Given the description of an element on the screen output the (x, y) to click on. 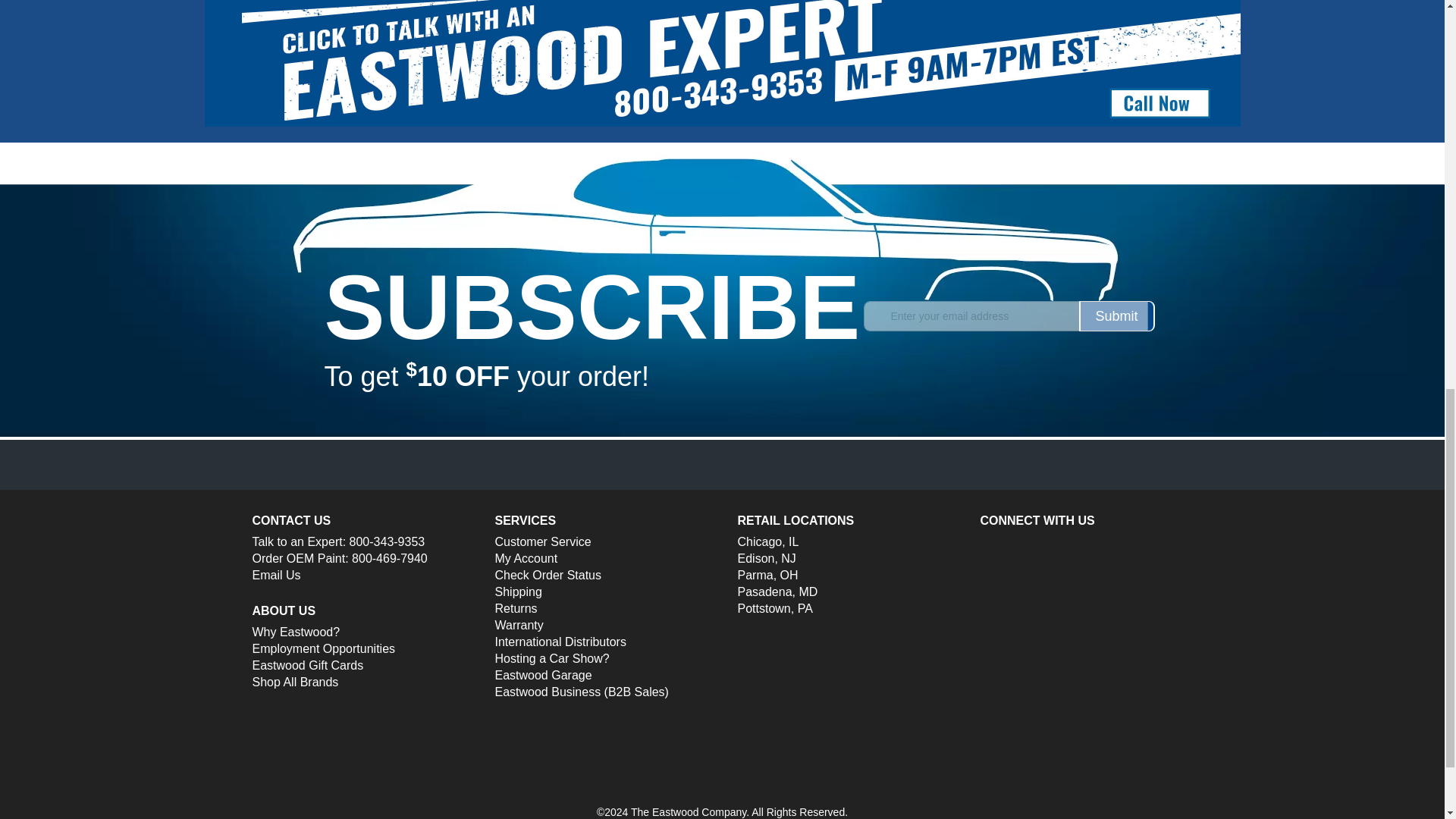
Shop All Brands Available at Eastwood (294, 682)
Eastwood Customer Service Information (543, 541)
Submit (1116, 316)
Call to Order Eastwood OEM Paint (390, 558)
Review the Eastwood Shipping and Freight Policy (518, 592)
Eastwood Contact Us Form (275, 575)
Eastwood Gift Cards (306, 665)
Why Eastwood? (295, 632)
Call Eastwood and talk to an Automotive Expert (387, 541)
Check Your Eastwood Order Status (548, 575)
Log into your Eastwood Customer Account (526, 558)
Eastwood Employment Opportunities (322, 648)
